Given the description of an element on the screen output the (x, y) to click on. 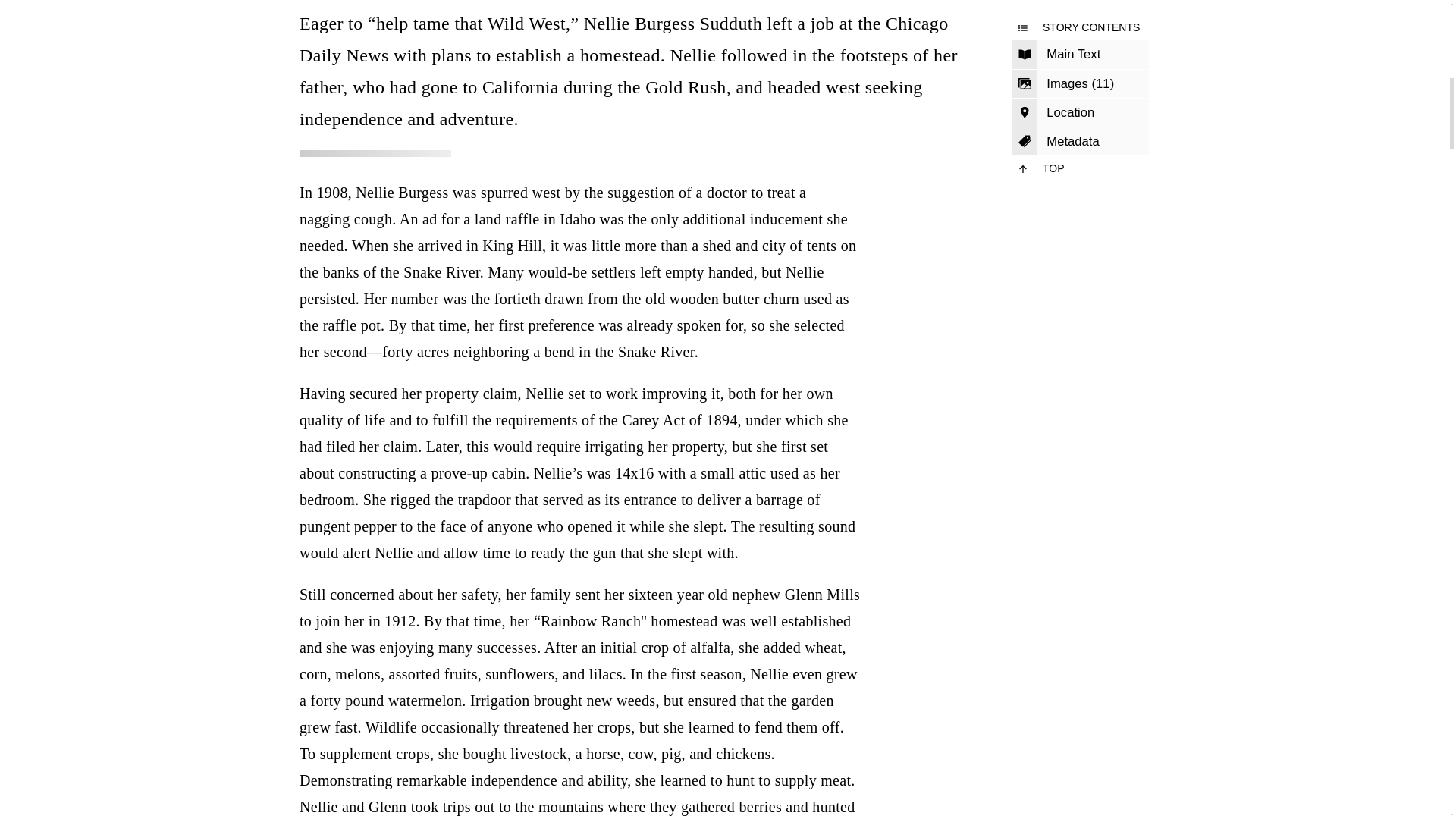
Story Contents (1079, 20)
Skip to Metadata (1079, 133)
Skip to Images (1079, 76)
Metadata (1079, 133)
Location (1079, 104)
Skip to Main Text (1079, 46)
Skip to Map Location (1079, 104)
TOP (1079, 161)
Main Text (1079, 46)
Return to Top (1079, 161)
